Given the description of an element on the screen output the (x, y) to click on. 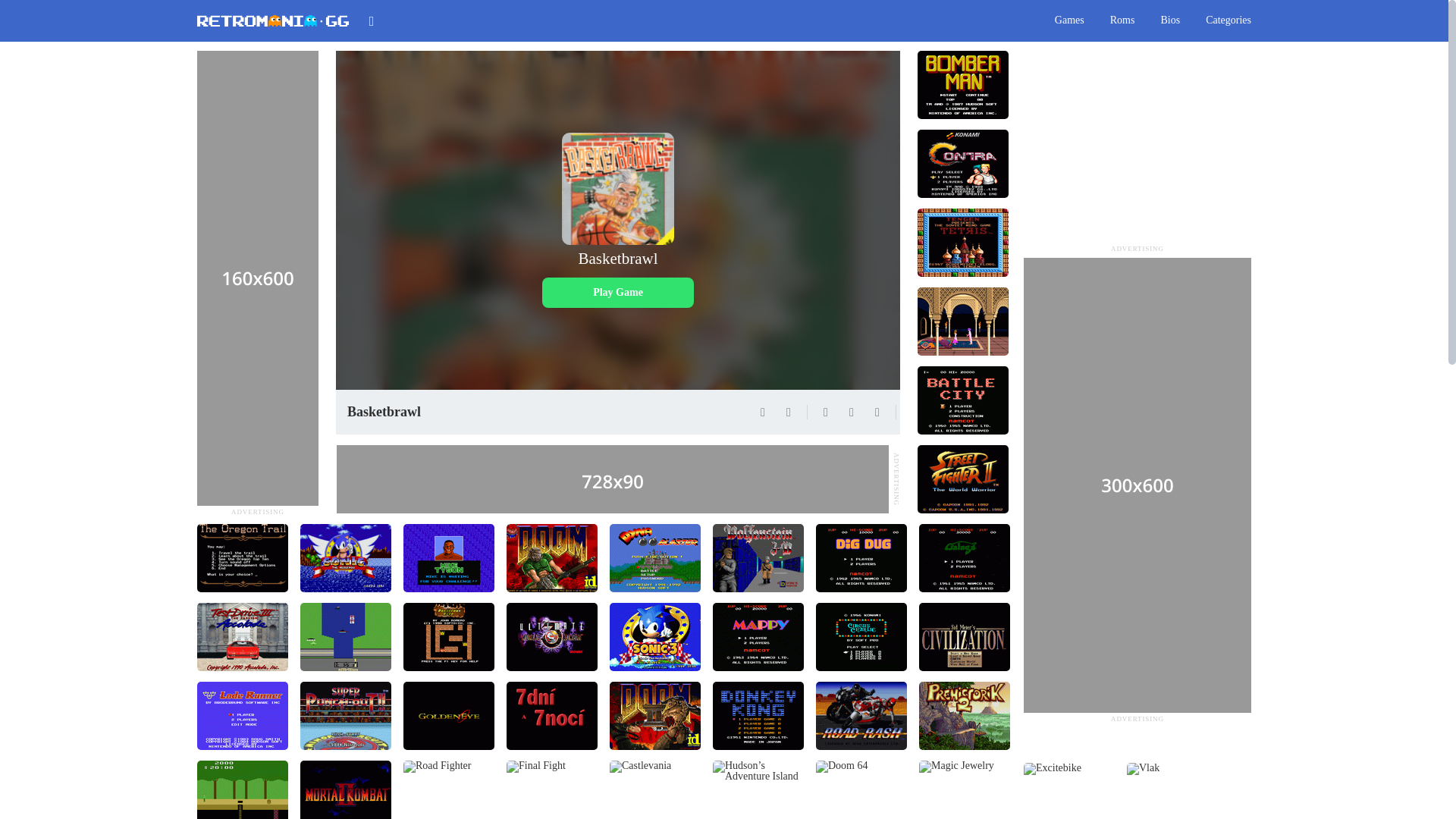
Roms (1122, 20)
Categories (1228, 20)
Play Game (617, 292)
Games (1069, 20)
RetroMania - Play Classic Games Online (272, 20)
Bios (1170, 20)
